Given the description of an element on the screen output the (x, y) to click on. 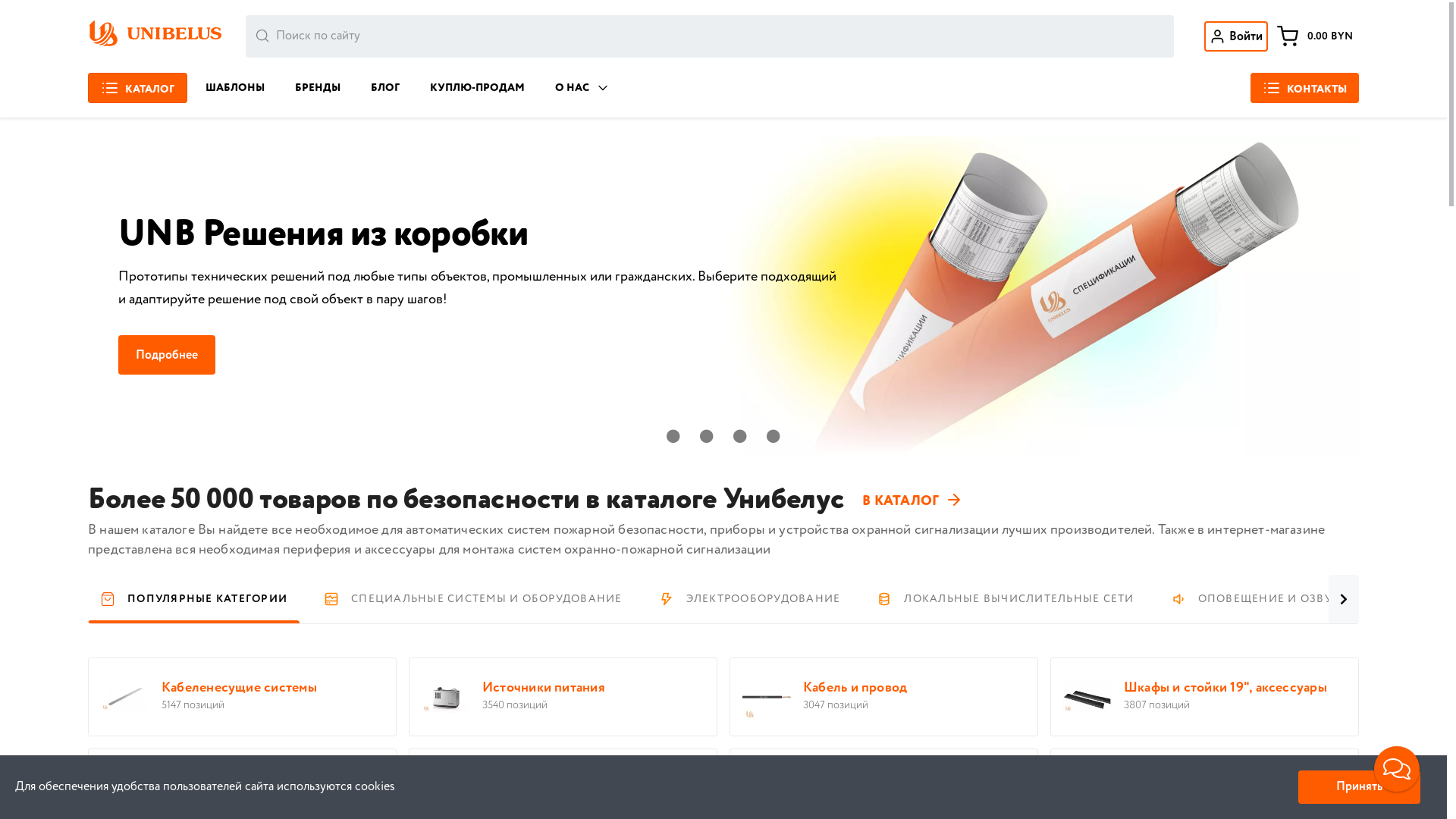
3 Element type: text (773, 435)
2 Element type: text (739, 435)
1 Element type: text (706, 435)
Unibelus Element type: hover (102, 36)
0 Element type: text (673, 435)
Unibelus Element type: hover (174, 35)
0.00
BYN Element type: text (1314, 36)
